Given the description of an element on the screen output the (x, y) to click on. 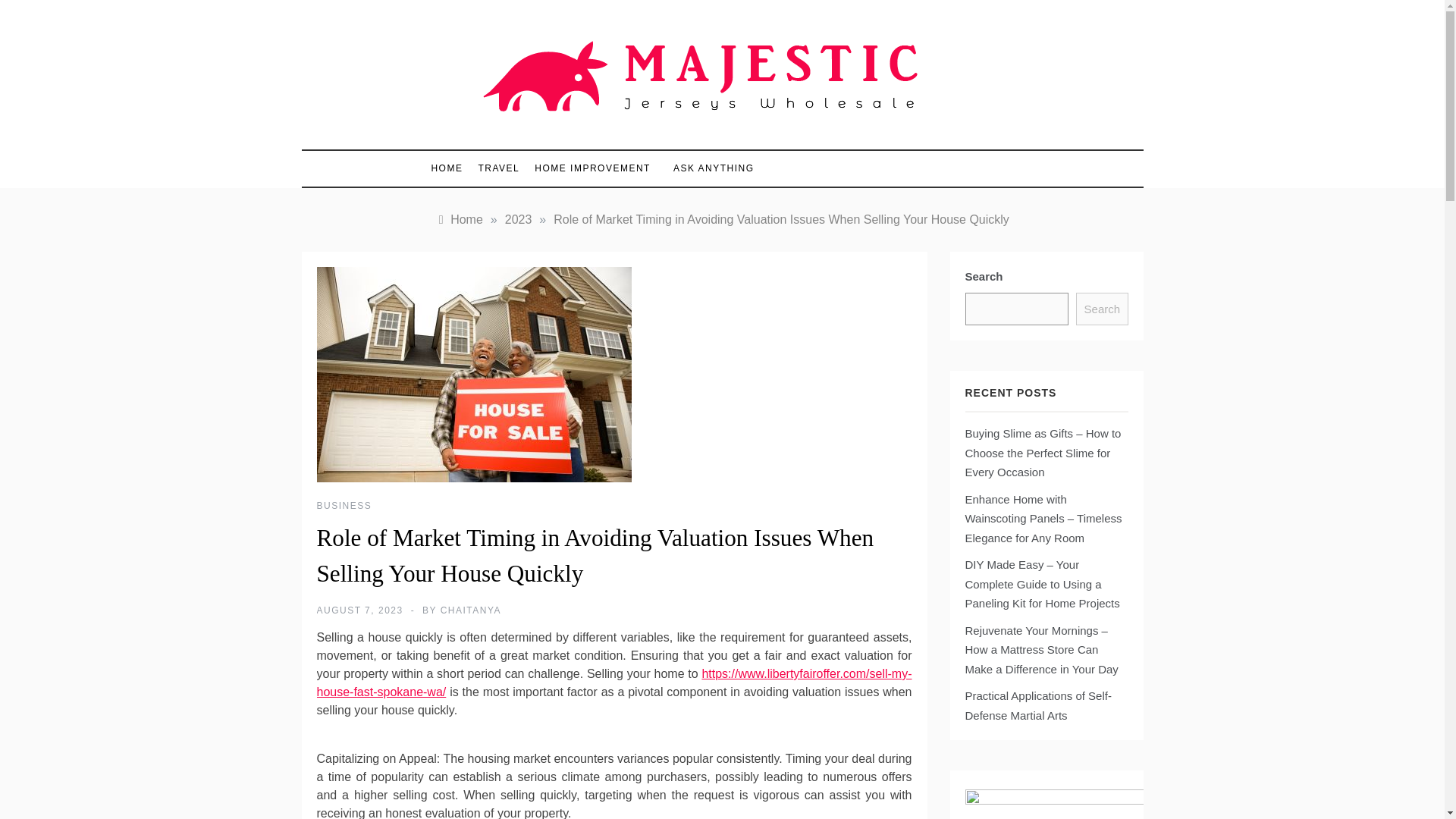
Search (1100, 308)
ASK ANYTHING (706, 168)
BUSINESS (344, 505)
Majestic Jerseys Wholesale (658, 134)
CHAITANYA (470, 610)
HOME (450, 168)
Practical Applications of Self-Defense Martial Arts (1036, 705)
2023 (518, 219)
Home (459, 219)
HOME IMPROVEMENT (592, 168)
AUGUST 7, 2023 (360, 610)
TRAVEL (498, 168)
